Given the description of an element on the screen output the (x, y) to click on. 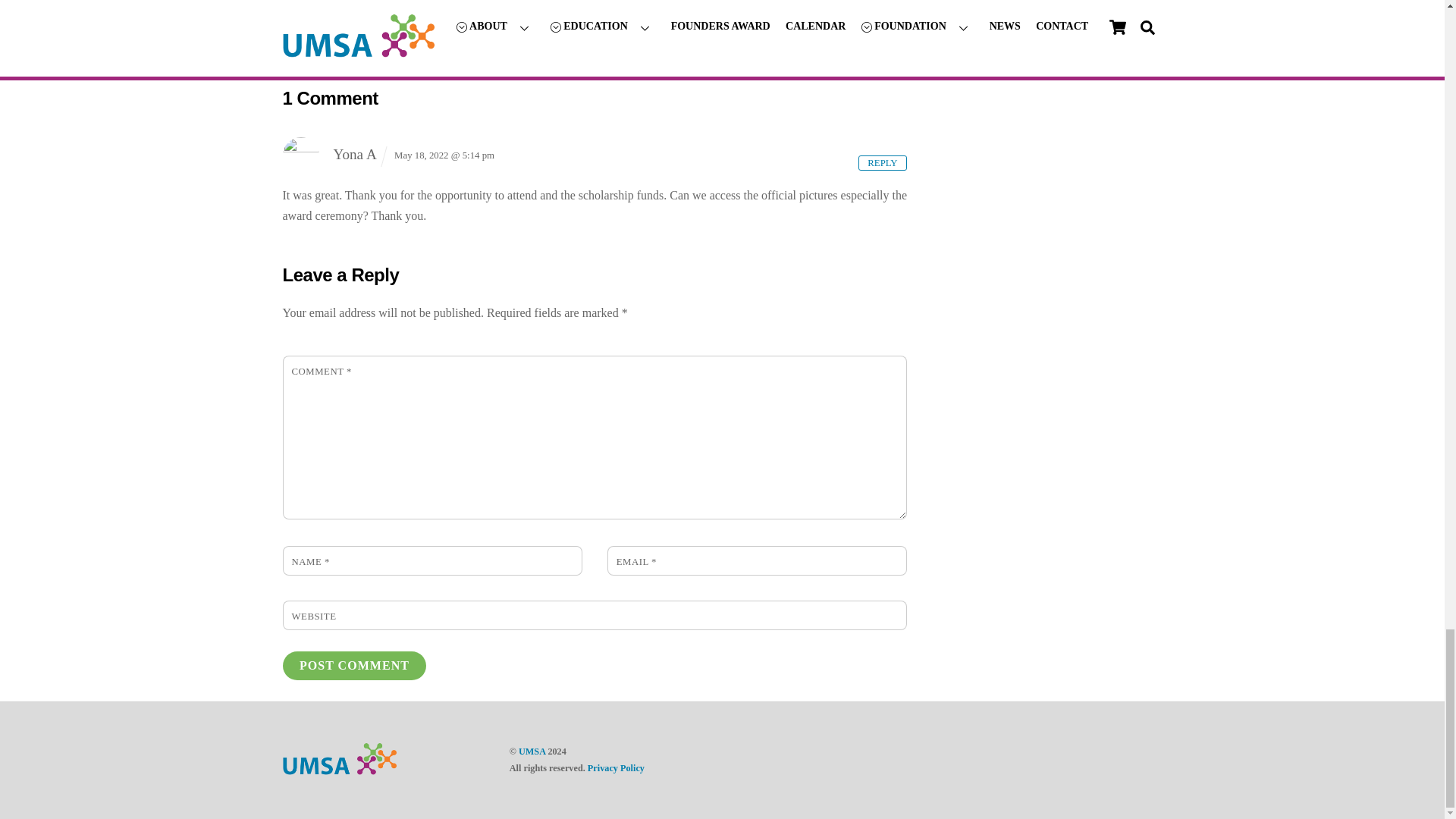
UMSA (339, 769)
umsa-logo-notagline.png (339, 758)
Post Comment (354, 665)
